Given the description of an element on the screen output the (x, y) to click on. 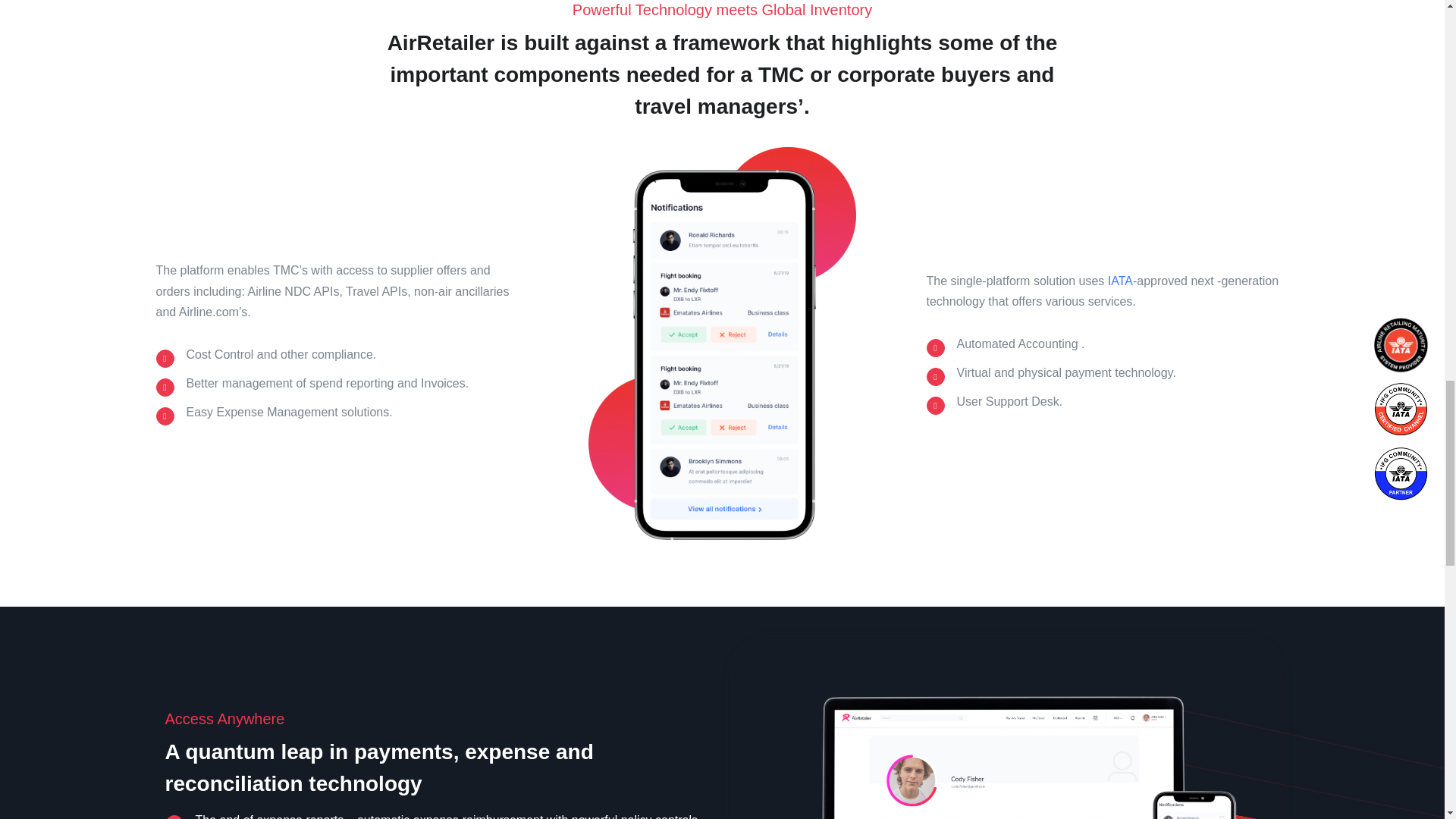
IATA (1120, 280)
